Given the description of an element on the screen output the (x, y) to click on. 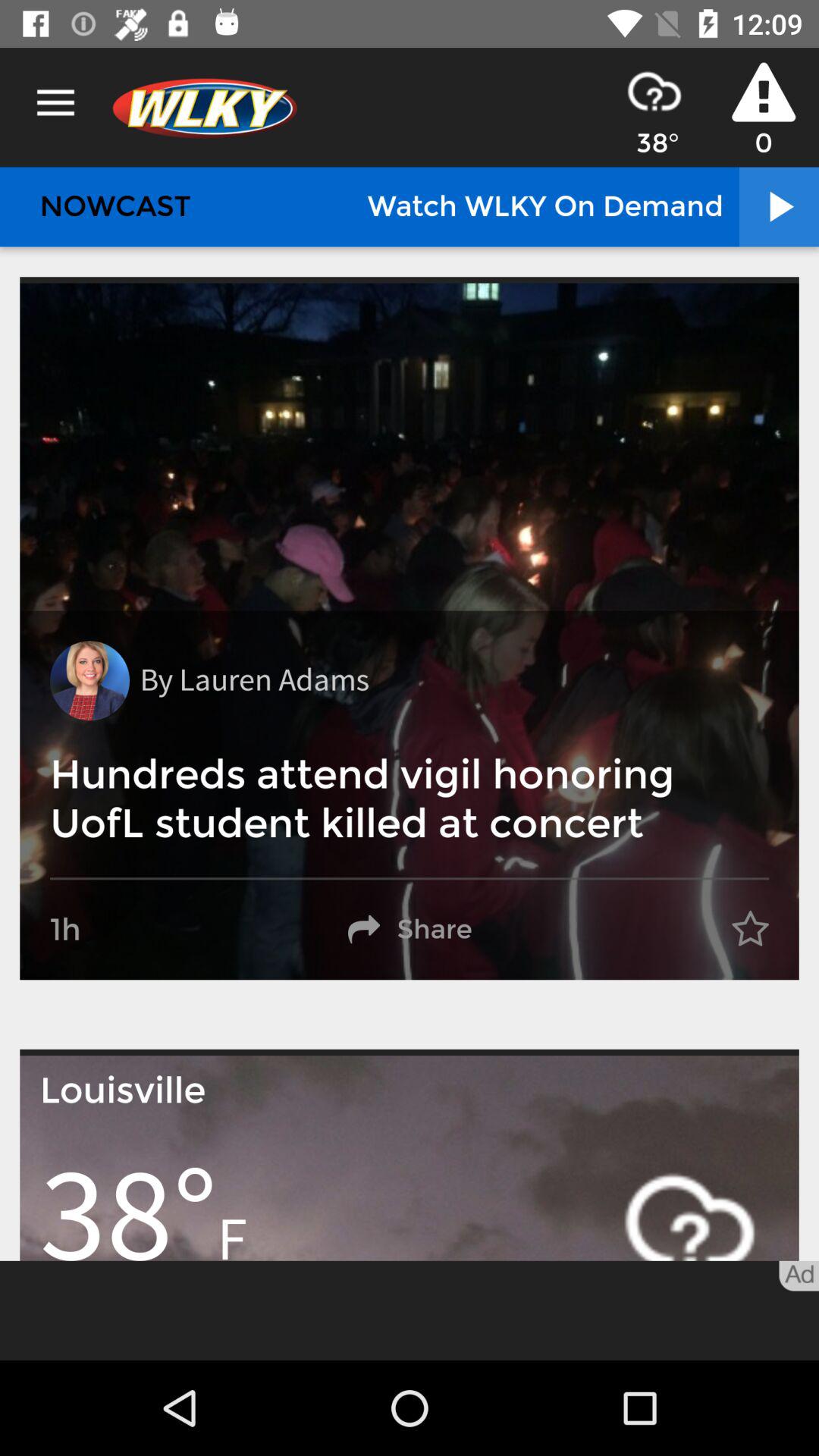
click the item above hundreds attend vigil (89, 680)
